Given the description of an element on the screen output the (x, y) to click on. 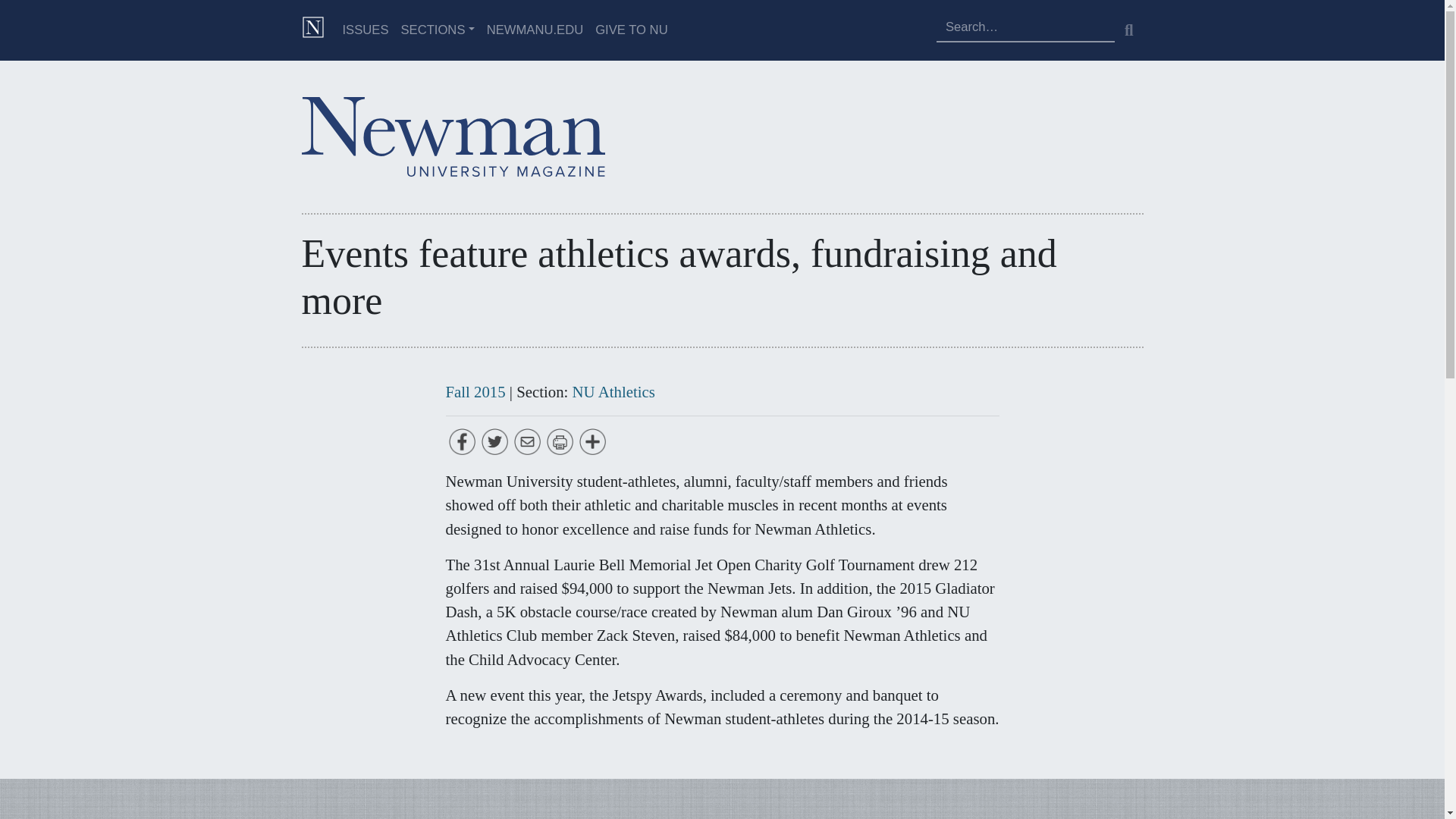
Fall 2015 (475, 391)
NU Athletics (613, 391)
NEWMANU.EDU (534, 30)
Facebook (462, 442)
ISSUES (365, 30)
PrintFriendly (559, 442)
SECTIONS (437, 30)
Twitter (494, 442)
Search for: (1025, 27)
Email (527, 442)
GIVE TO NU (630, 30)
